Given the description of an element on the screen output the (x, y) to click on. 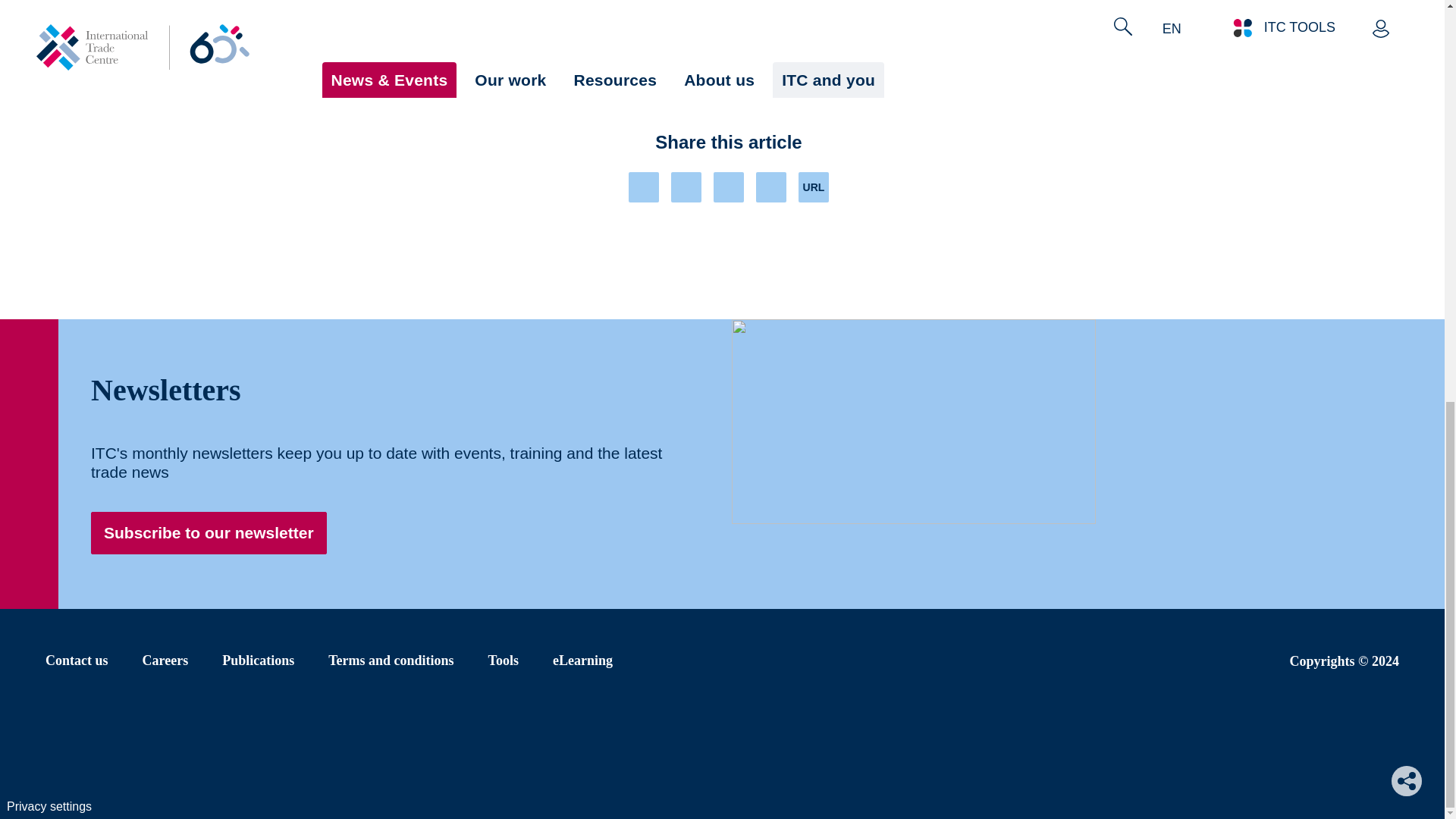
REJECT (1057, 64)
ACCEPT (1168, 64)
More info (561, 78)
Privacy settings (49, 18)
